Given the description of an element on the screen output the (x, y) to click on. 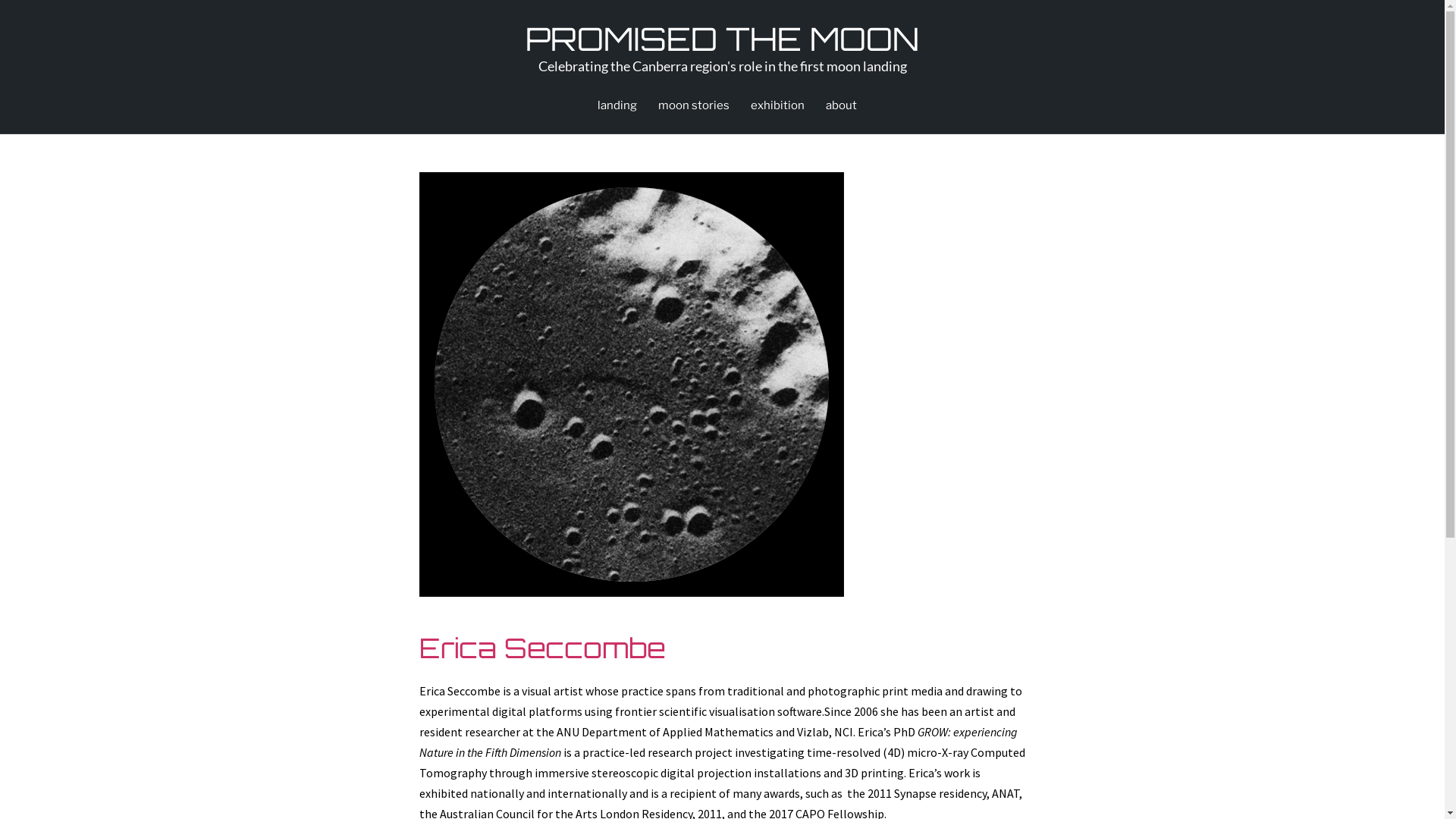
PROMISED THE MOON Element type: text (722, 38)
Skip to content Element type: text (0, 0)
exhibition Element type: text (777, 105)
about Element type: text (840, 105)
landing Element type: text (617, 105)
moon stories Element type: text (693, 105)
